Given the description of an element on the screen output the (x, y) to click on. 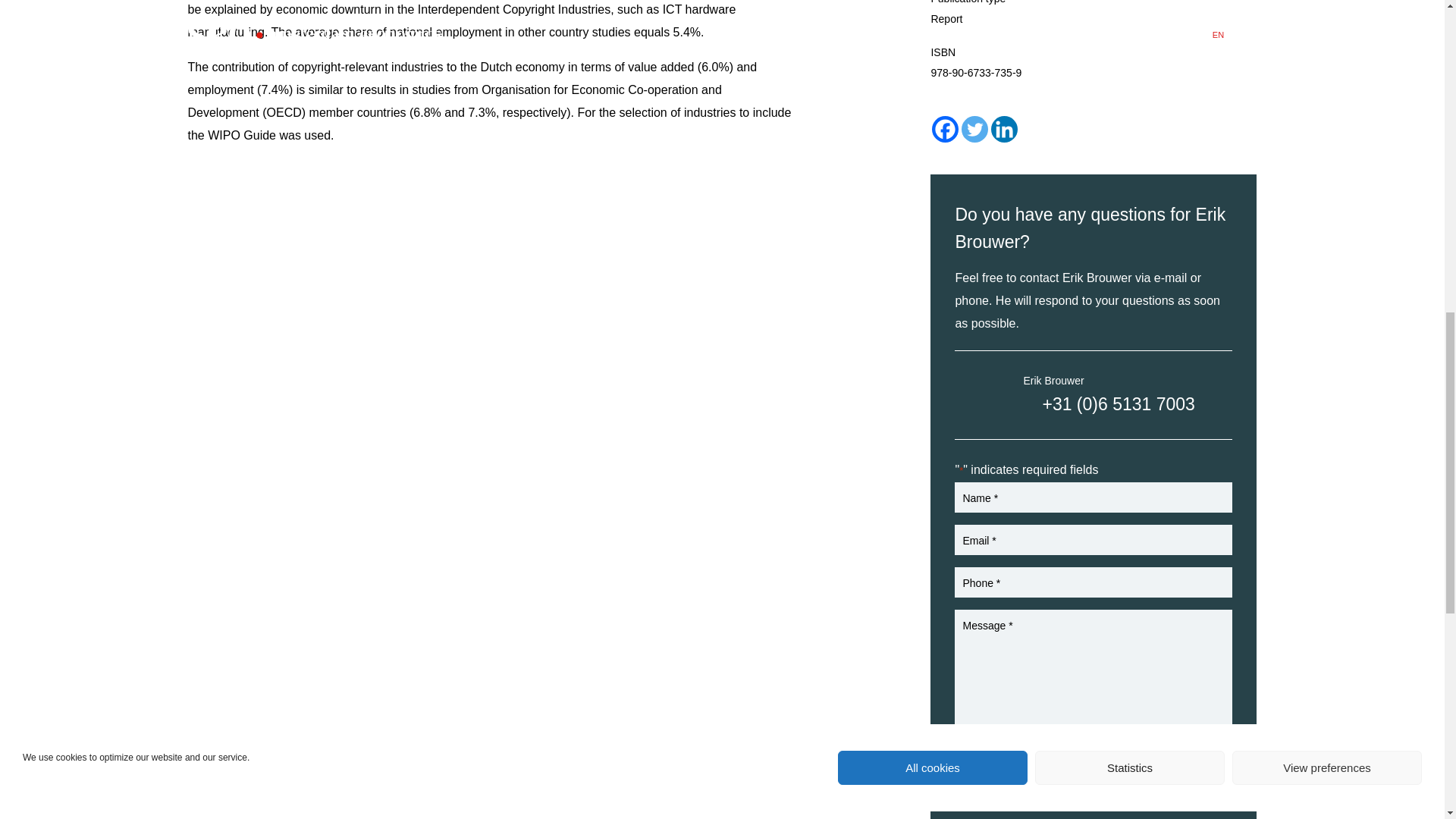
Twitter (974, 129)
Facebook (944, 129)
Linkedin (1004, 129)
